Given the description of an element on the screen output the (x, y) to click on. 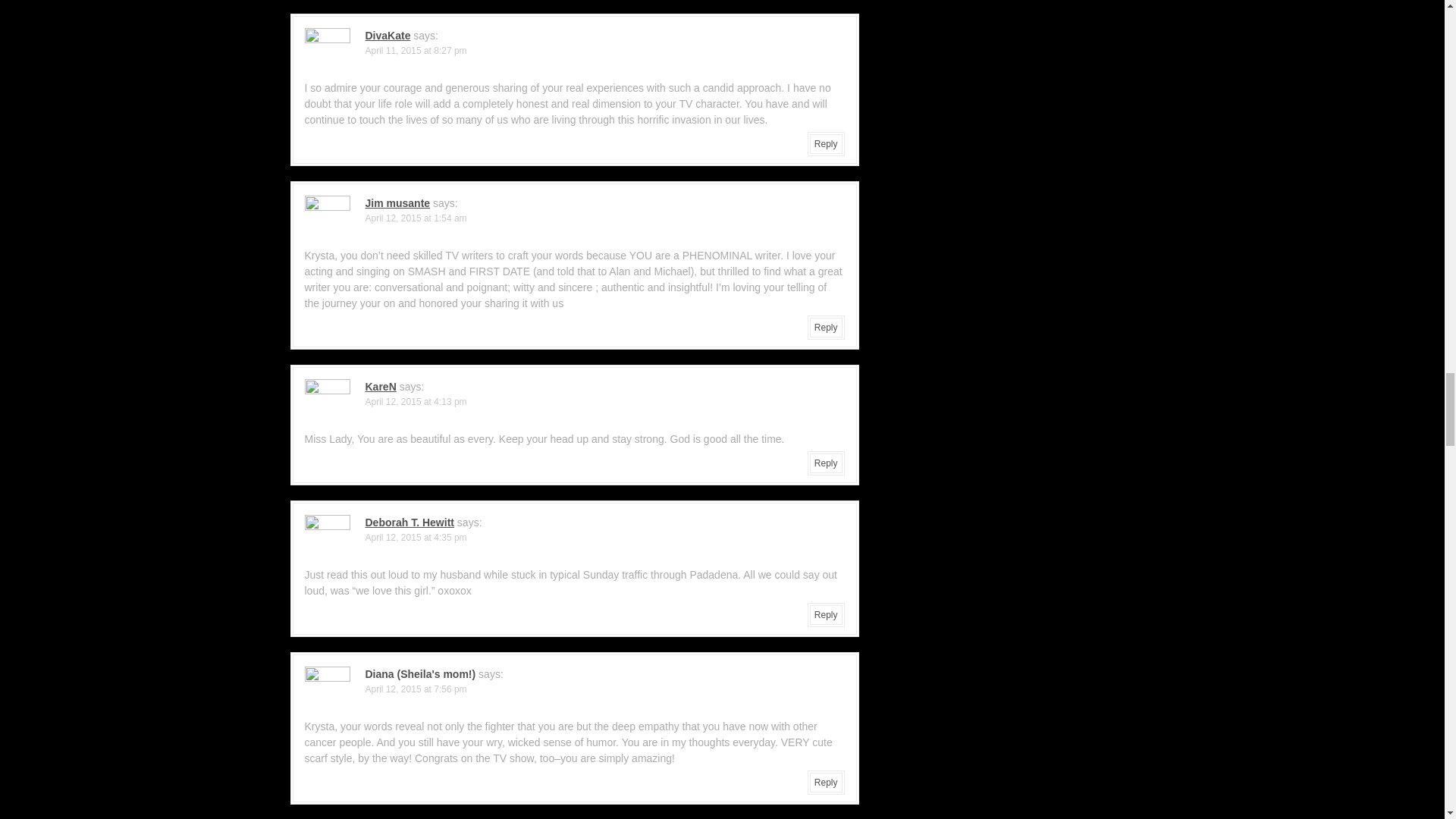
April 12, 2015 at 1:54 am (416, 217)
KareN (380, 386)
Jim musante (397, 203)
April 12, 2015 at 7:56 pm (416, 688)
Reply (826, 614)
Reply (826, 463)
April 12, 2015 at 4:13 pm (416, 401)
April 11, 2015 at 8:27 pm (416, 50)
Deborah T. Hewitt (409, 522)
DivaKate (387, 35)
